Given the description of an element on the screen output the (x, y) to click on. 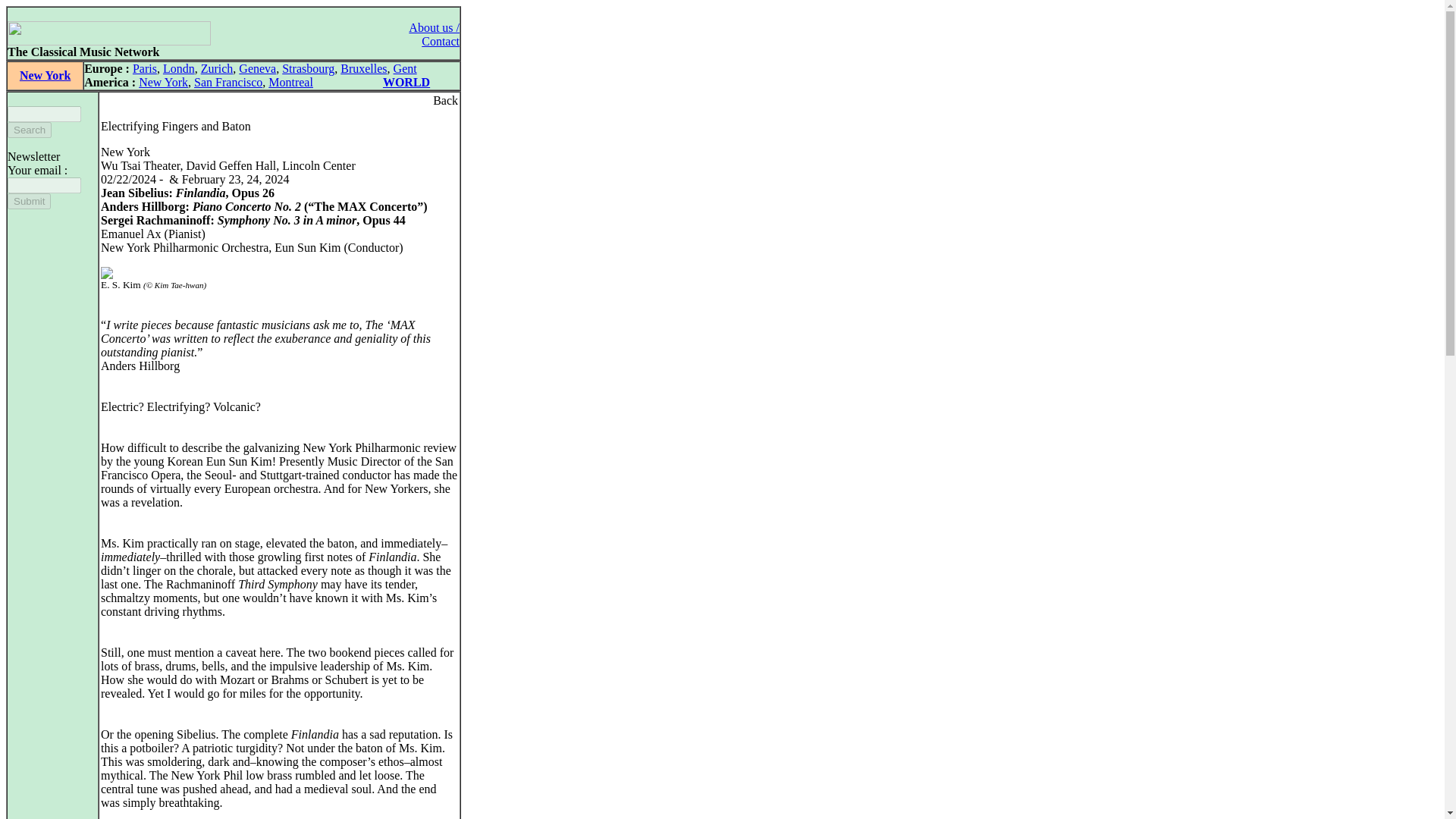
San Francisco (227, 82)
Strasbourg (308, 68)
Submit (28, 201)
Paris (144, 68)
New York (162, 82)
Zurich (216, 68)
Bruxelles (363, 68)
New York (44, 74)
Geneva (257, 68)
Londn (179, 68)
Gent (404, 68)
Submit (28, 201)
Search (28, 130)
Montreal (290, 82)
WORLD (405, 82)
